Given the description of an element on the screen output the (x, y) to click on. 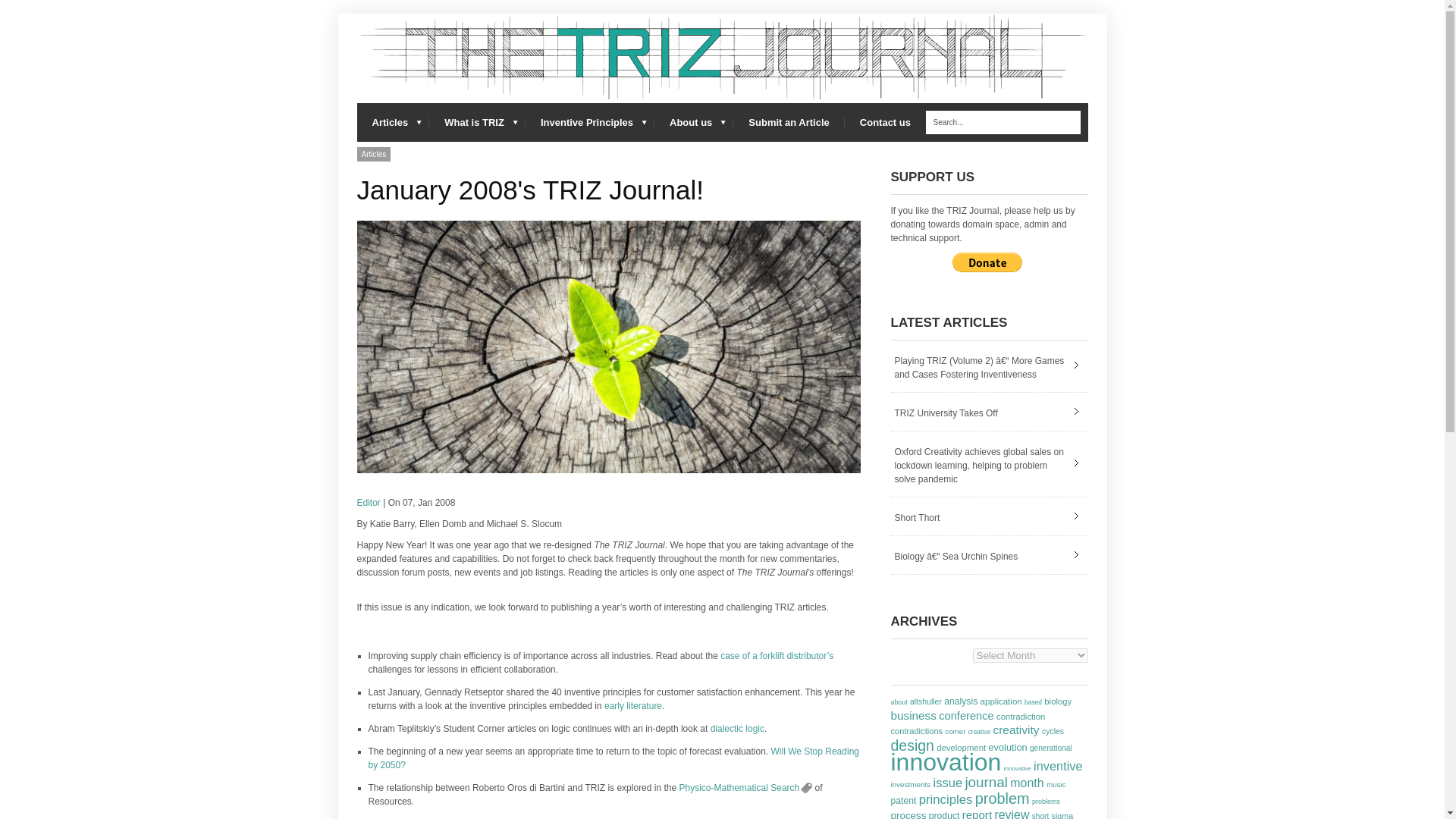
New development business concept (608, 346)
Contact us (885, 122)
Submit an Article (788, 122)
Search... (1002, 122)
